Given the description of an element on the screen output the (x, y) to click on. 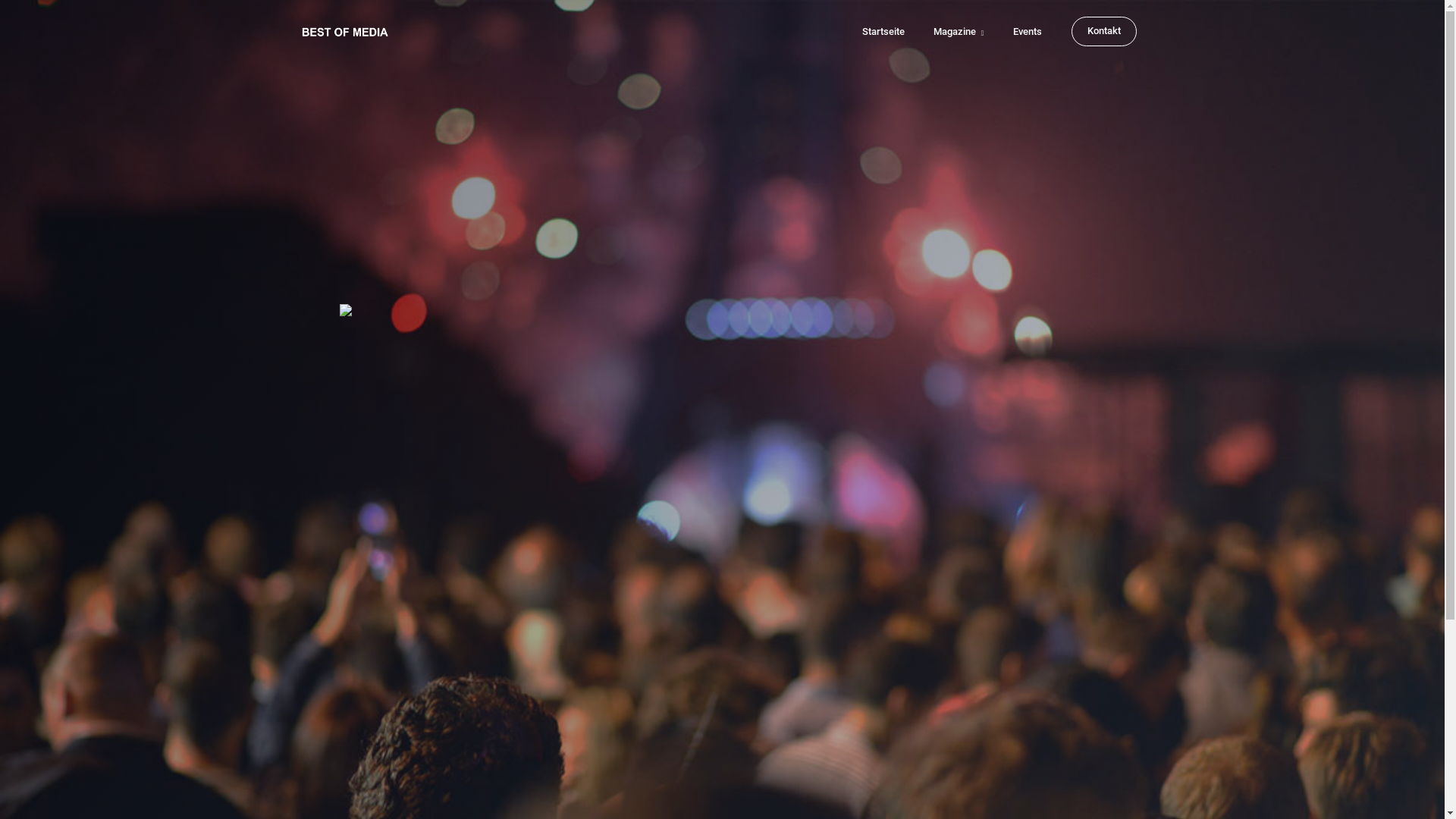
Startseite Element type: text (883, 31)
Kontakt Element type: text (1102, 31)
Events Element type: text (1027, 31)
Magazine Element type: text (958, 31)
